Given the description of an element on the screen output the (x, y) to click on. 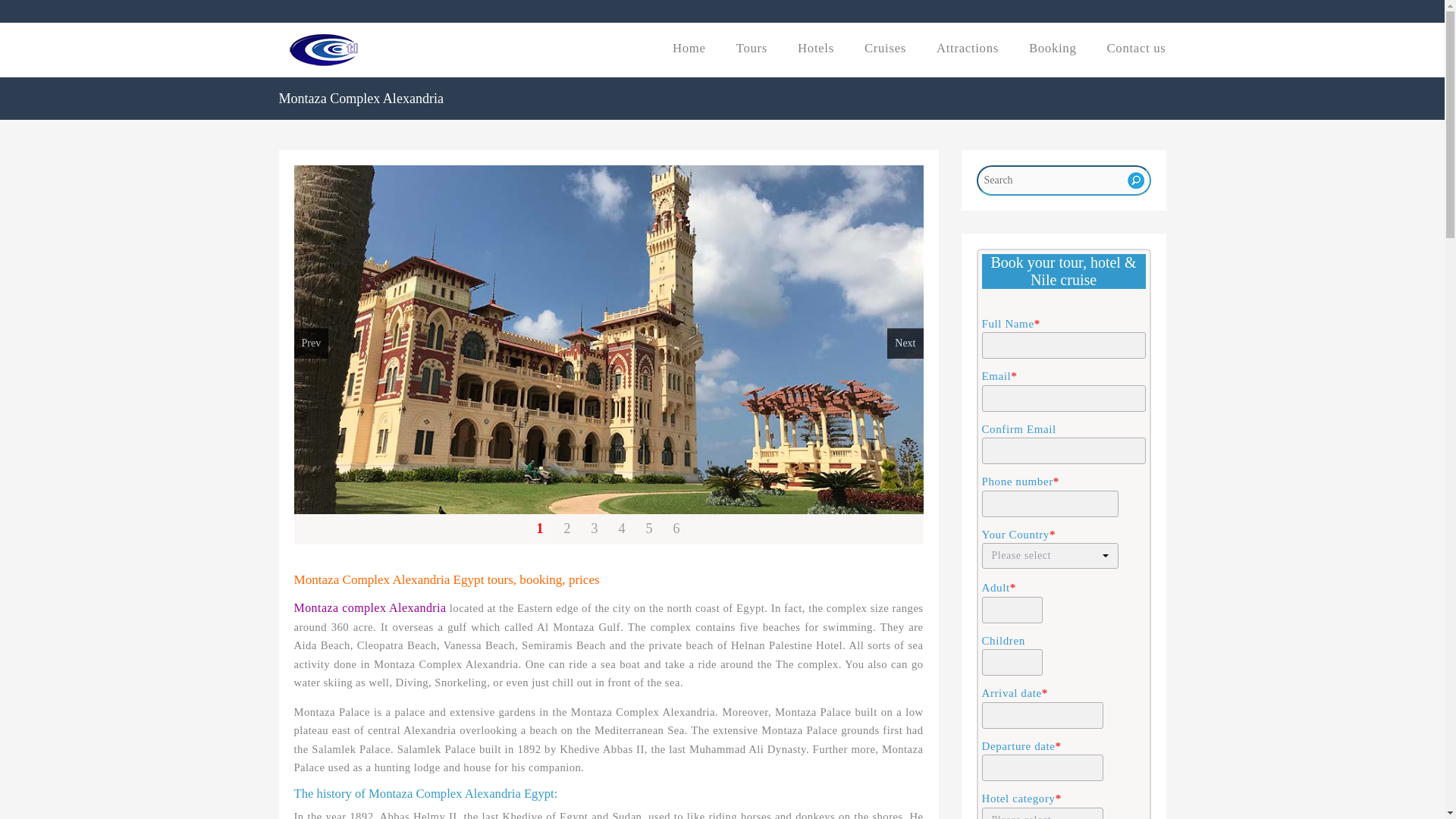
5 (648, 528)
3 (593, 528)
Booking (1053, 48)
Contact us (1136, 48)
1 (539, 528)
6 (675, 528)
Prev (311, 343)
Next (904, 343)
4 (621, 528)
Attractions (967, 48)
